Given the description of an element on the screen output the (x, y) to click on. 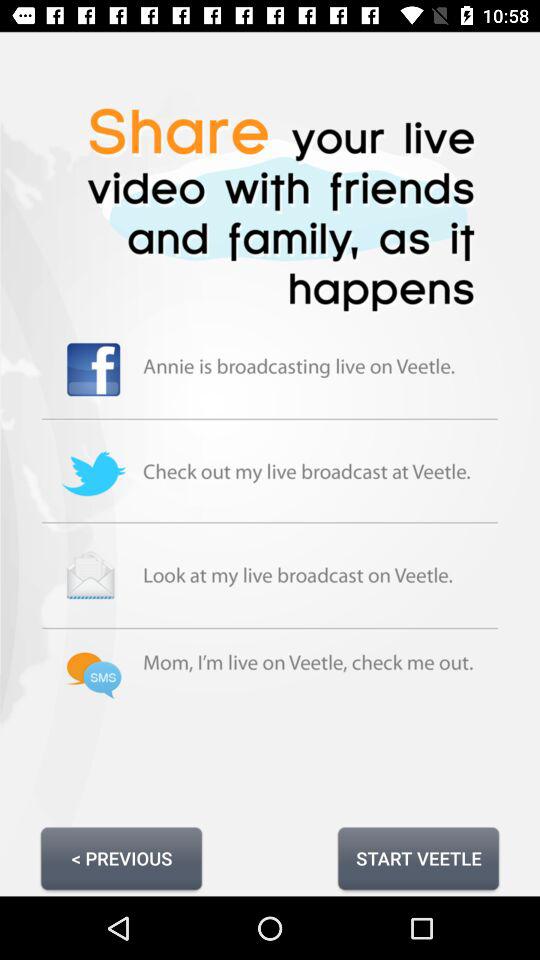
launch item next to < previous (418, 858)
